Given the description of an element on the screen output the (x, y) to click on. 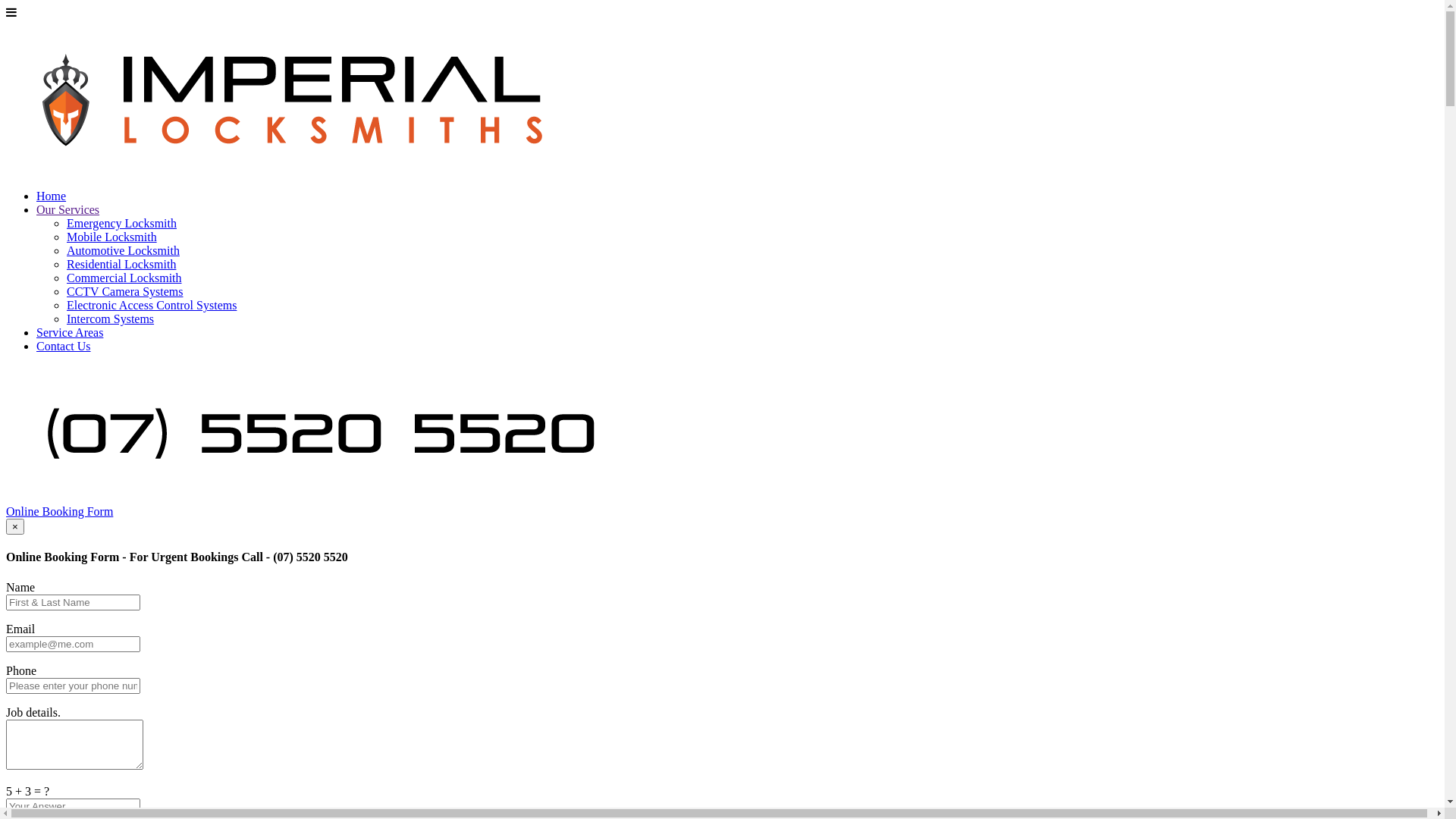
Contact Us Element type: text (63, 345)
Home Element type: text (50, 195)
Online Booking Form Element type: text (59, 511)
Commercial Locksmith Element type: text (124, 277)
Our Services Element type: text (67, 209)
Mobile Locksmith Element type: text (111, 236)
Emergency Locksmith Element type: text (121, 222)
Intercom Systems Element type: text (109, 318)
Service Areas Element type: text (69, 332)
Residential Locksmith Element type: text (120, 263)
Automotive Locksmith Element type: text (122, 250)
CCTV Camera Systems Element type: text (124, 291)
Electronic Access Control Systems Element type: text (151, 304)
